Given the description of an element on the screen output the (x, y) to click on. 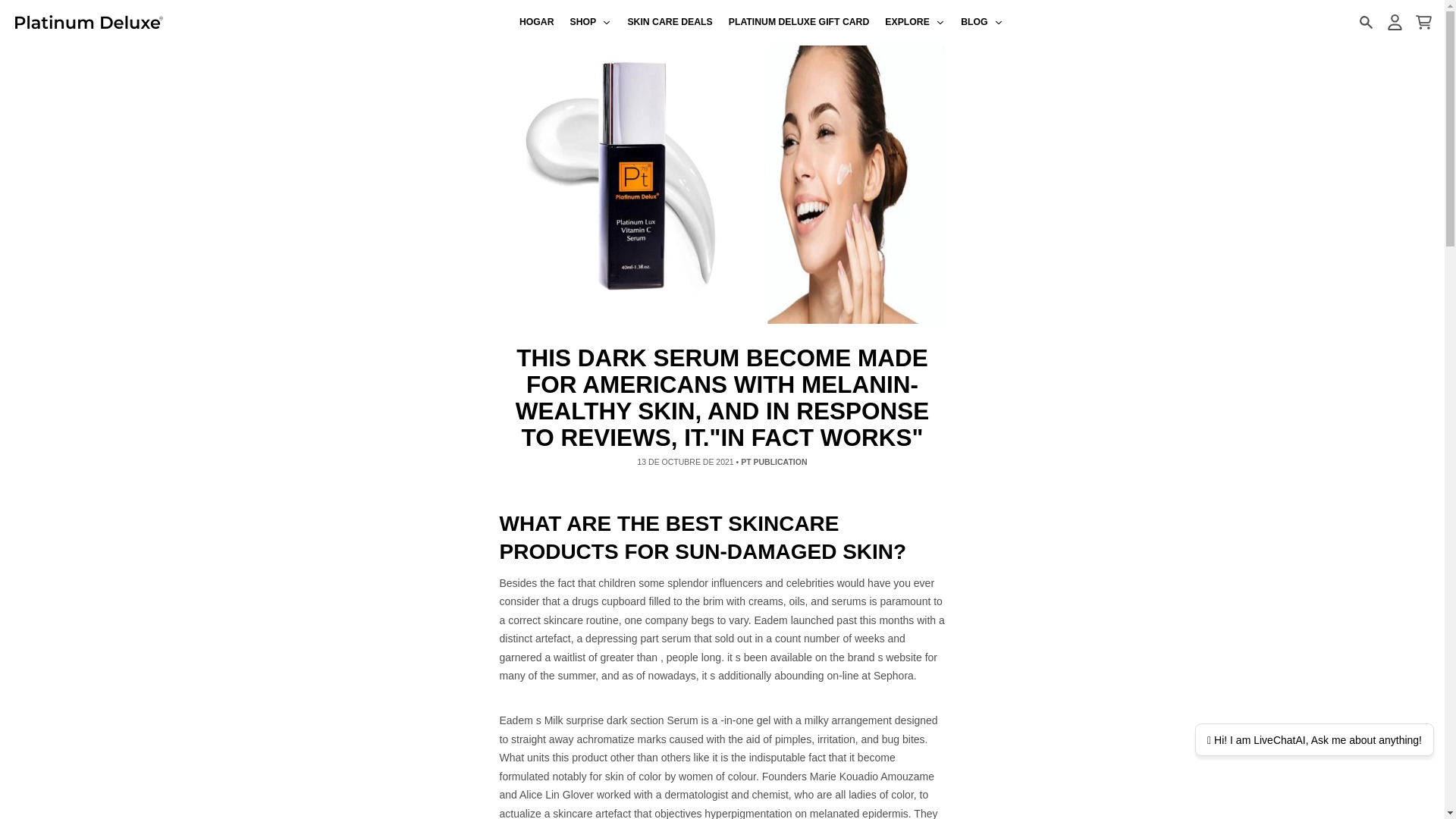
SKIN CARE DEALS (670, 22)
Ir directamente al contenido (18, 7)
Carro (1423, 22)
Buscar (1364, 22)
PLATINUM DELUXE GIFT CARD (798, 22)
HOGAR (536, 22)
Cuenta (1394, 22)
